Given the description of an element on the screen output the (x, y) to click on. 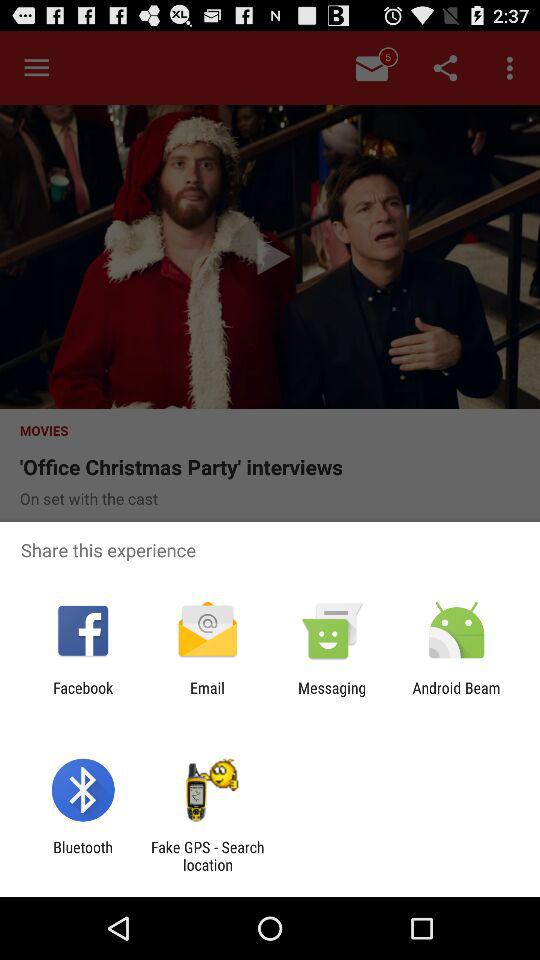
turn on the app next to fake gps search icon (82, 856)
